Given the description of an element on the screen output the (x, y) to click on. 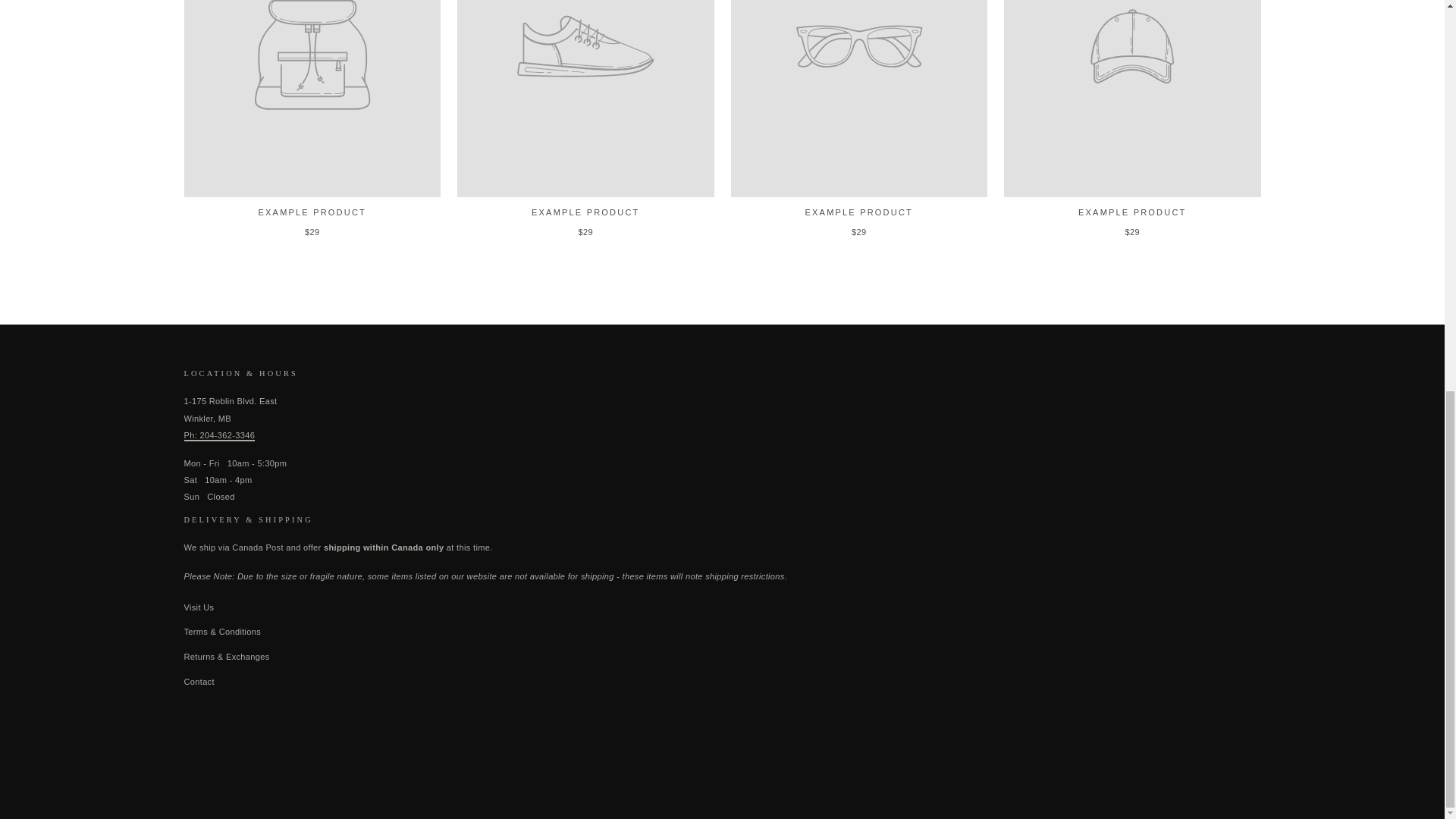
tel: 2043623346 (218, 435)
